Given the description of an element on the screen output the (x, y) to click on. 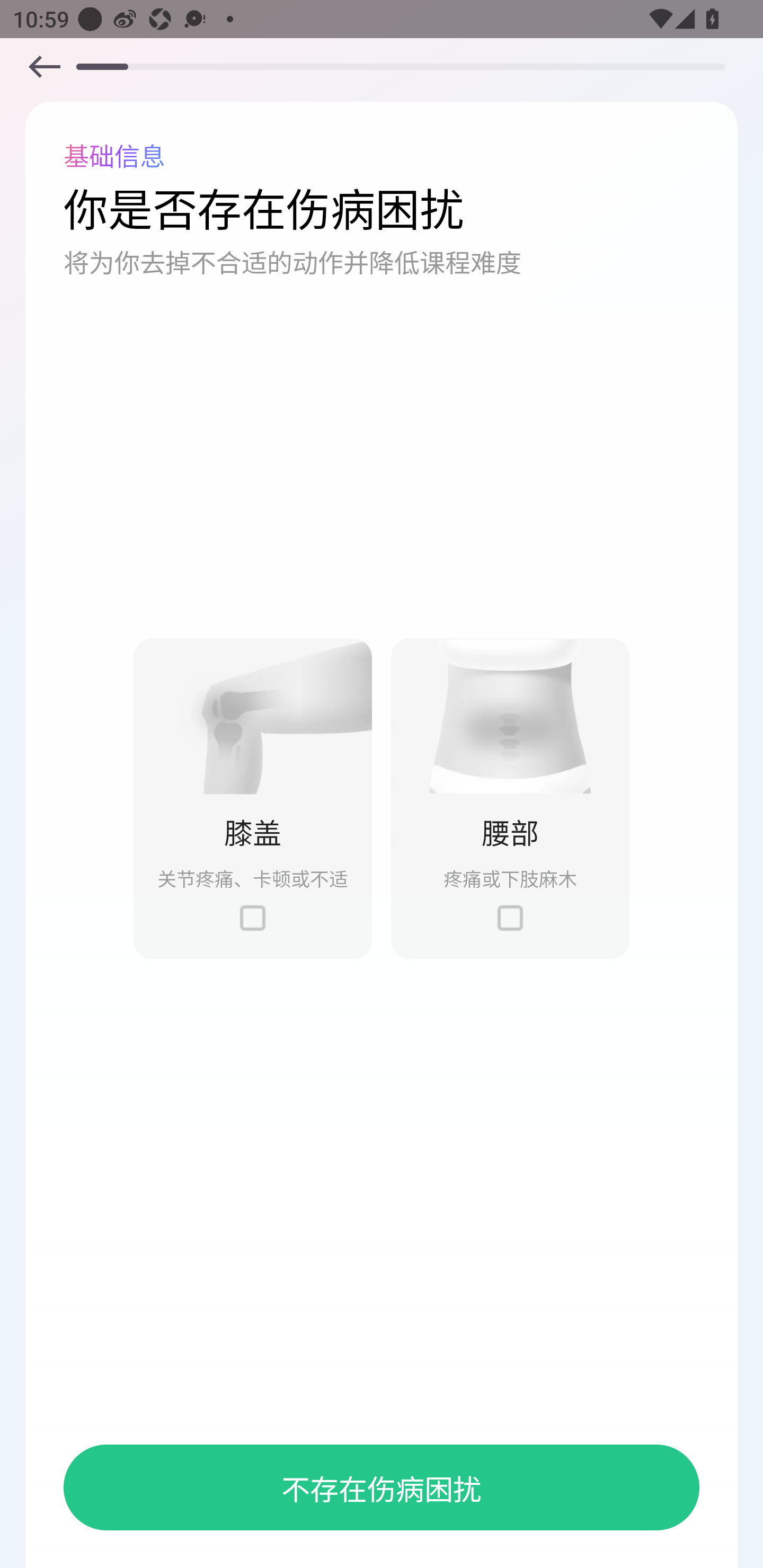
1 (44, 66)
1 膝盖 关节疼痛、卡顿或不适 1 (252, 797)
1 (252, 716)
1 腰部 疼痛或下肢麻木 1 (509, 797)
1 (509, 716)
1 (252, 917)
1 (510, 917)
不存在伤病困扰 (381, 1487)
